Given the description of an element on the screen output the (x, y) to click on. 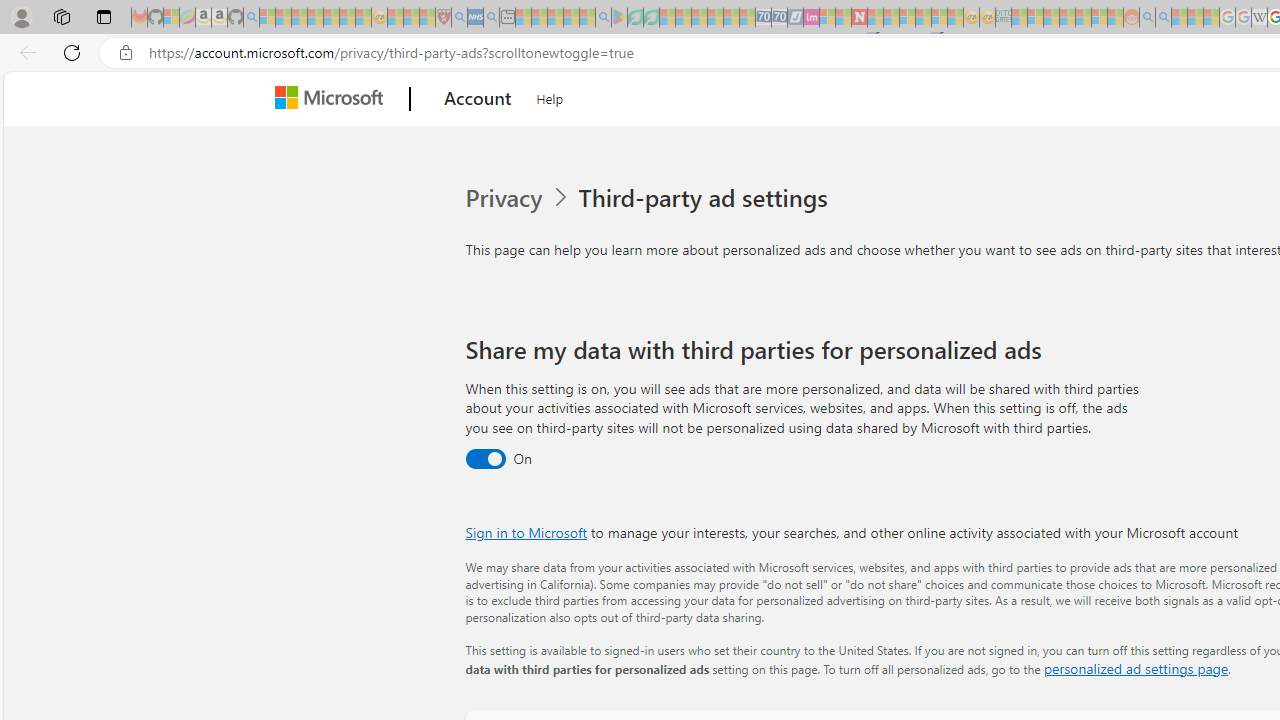
Third party data sharing toggle (484, 459)
